Given the description of an element on the screen output the (x, y) to click on. 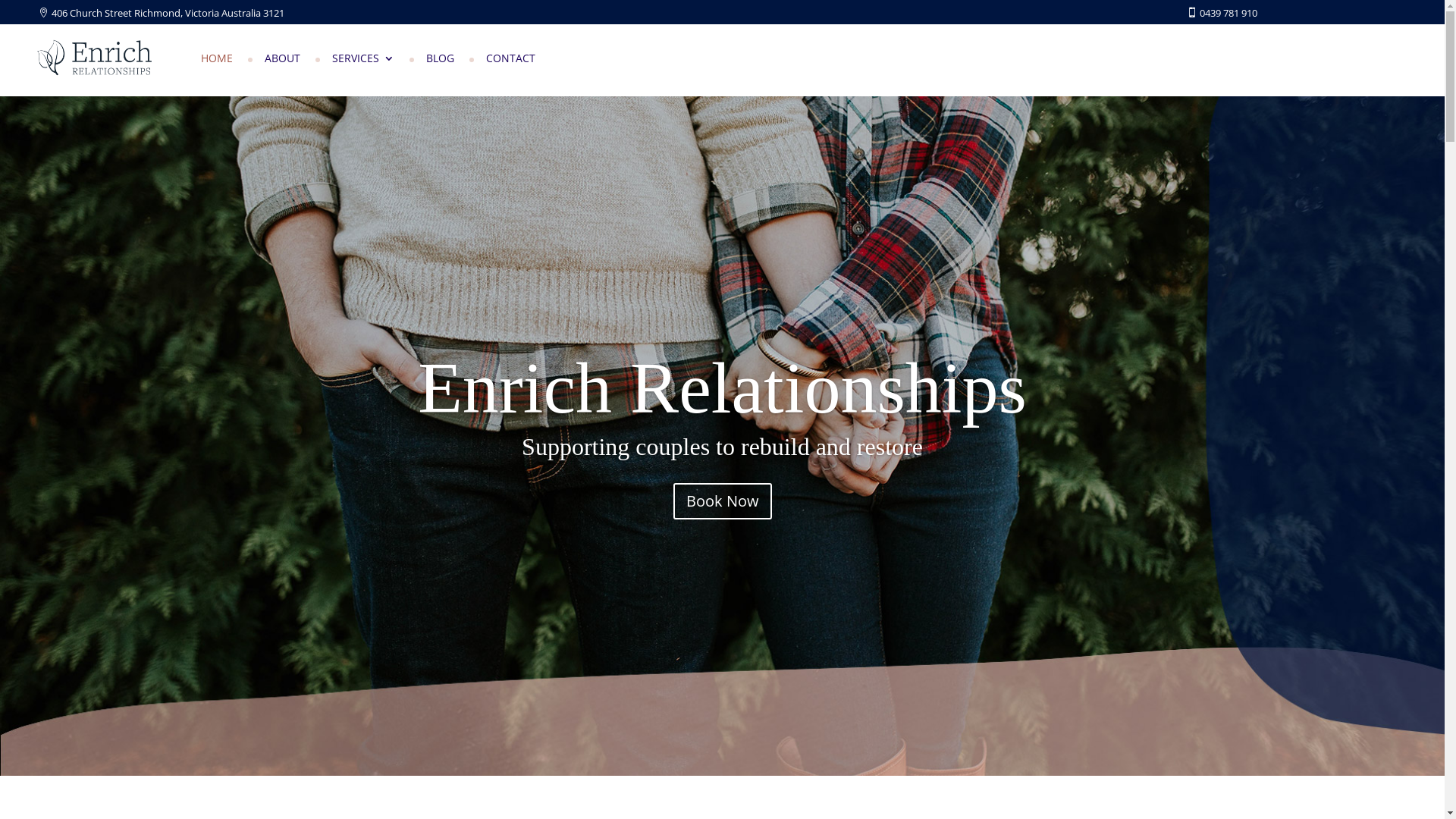
Enrich Relationships Element type: text (721, 387)
SERVICES Element type: text (363, 61)
HOME Element type: text (216, 61)
BLOG Element type: text (440, 61)
CONTACT Element type: text (510, 61)
Book Now Element type: text (722, 501)
406 Church Street Richmond, Victoria Australia 3121 Element type: text (160, 12)
ABOUT Element type: text (282, 61)
0439 781 910 Element type: text (1215, 12)
